Given the description of an element on the screen output the (x, y) to click on. 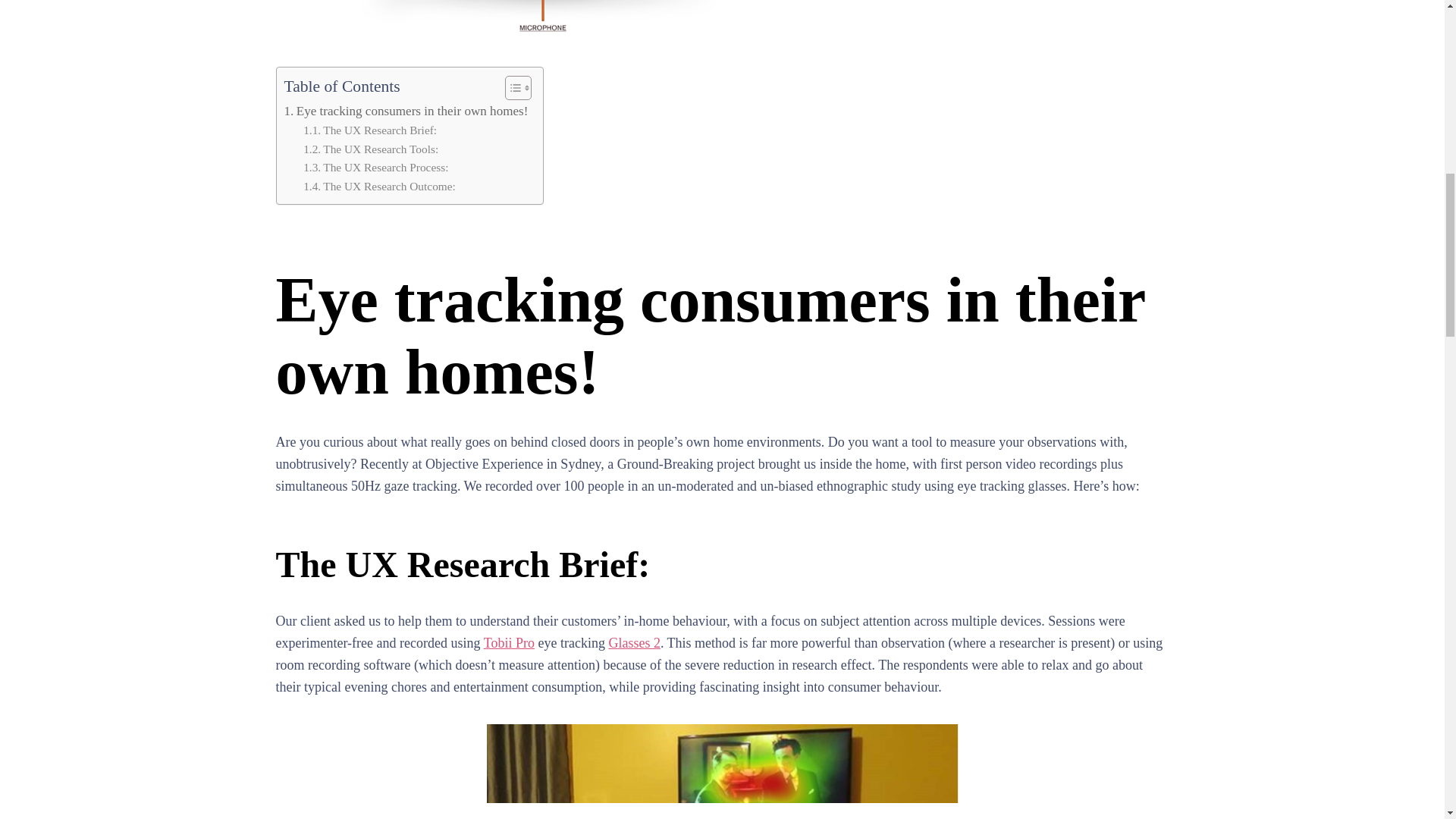
The UX Research Outcome: (378, 186)
Eye tracking consumers in their own homes! (405, 110)
Tobii Pro (508, 642)
The UX Research Process: (375, 167)
The UX Research Tools: (370, 149)
The UX Research Outcome: (378, 186)
The UX Research Tools: (370, 149)
The UX Research Brief: (369, 130)
Eye tracking consumers in their own homes! (405, 110)
The UX Research Brief: (369, 130)
